Given the description of an element on the screen output the (x, y) to click on. 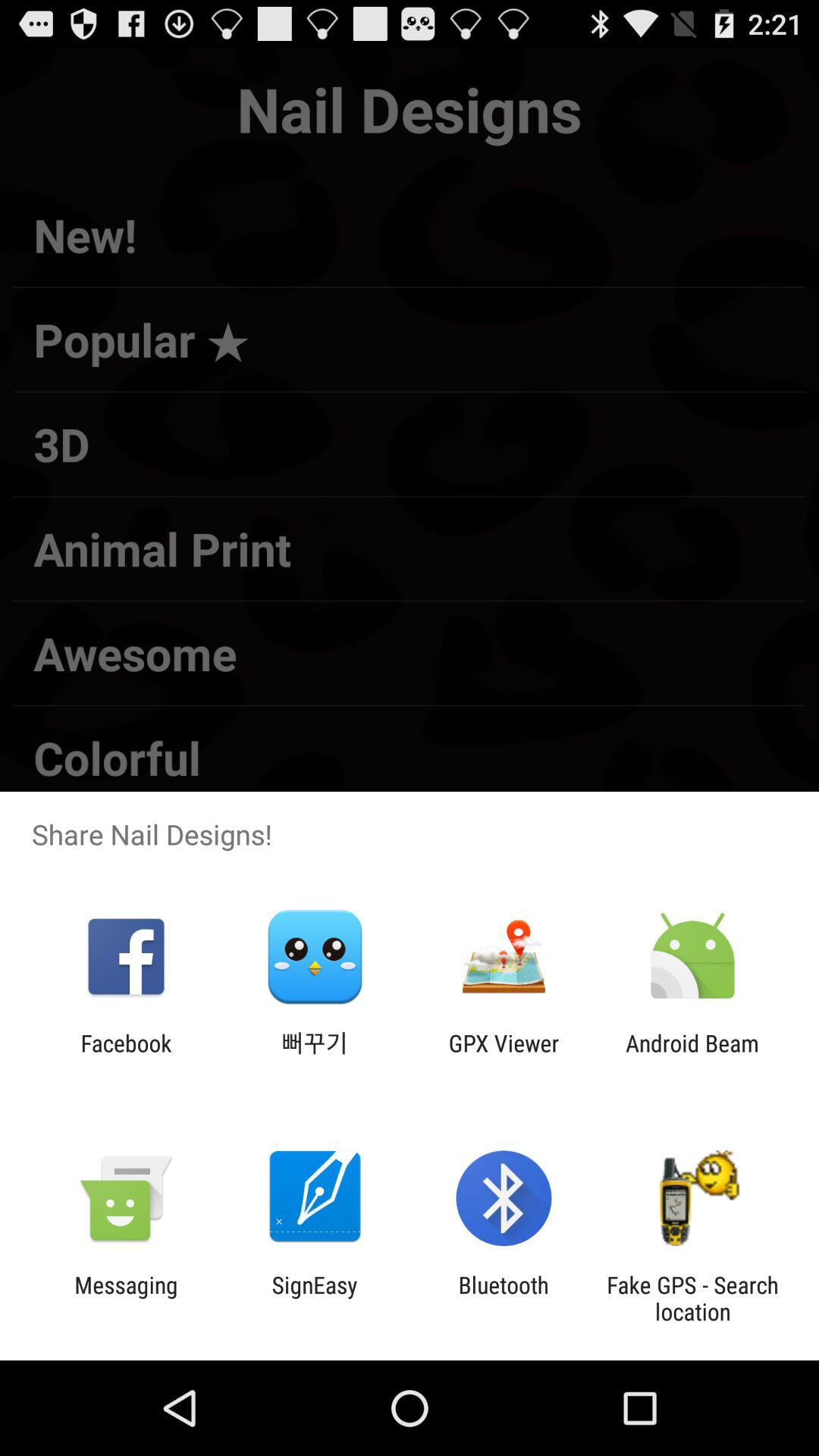
tap the bluetooth icon (503, 1298)
